Given the description of an element on the screen output the (x, y) to click on. 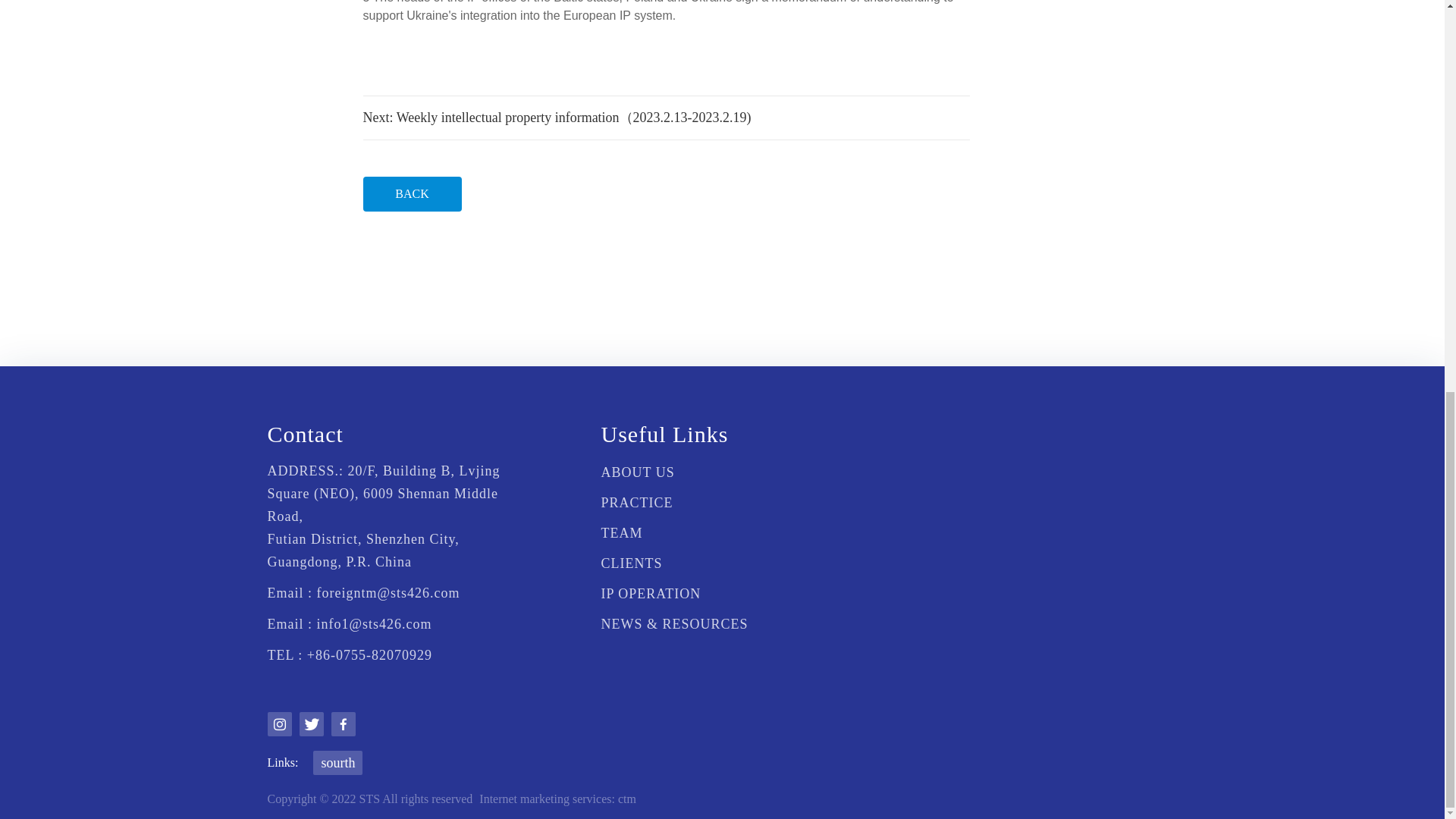
twitter (310, 723)
facebook (342, 723)
instagram (278, 723)
